Given the description of an element on the screen output the (x, y) to click on. 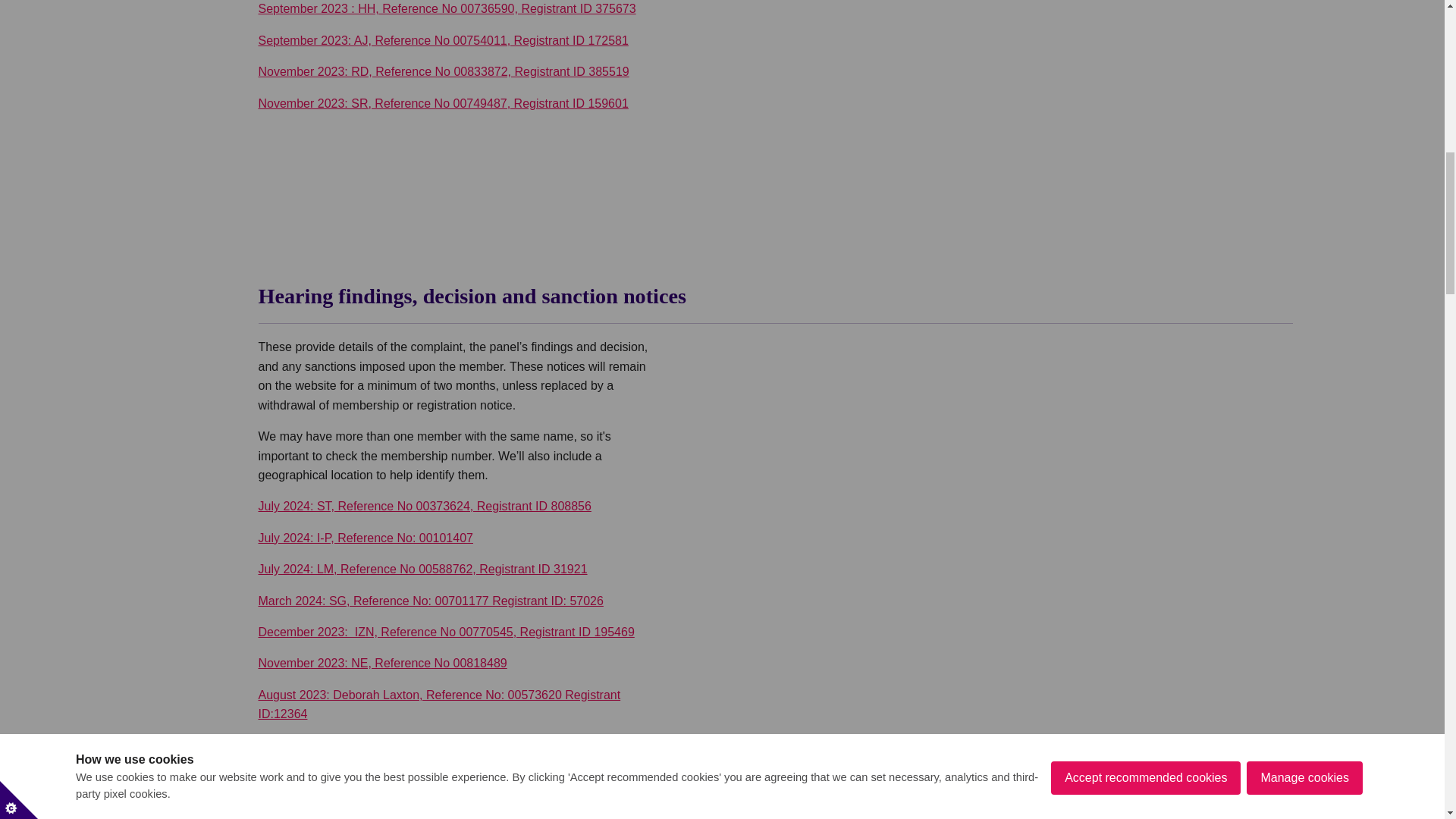
Manage cookies (1304, 5)
July 2024: LM, Reference No 00588762, Registrant ID 31921 (421, 568)
March 2024: SG, Reference No: 00701177 Registrant ID: 57026 (429, 600)
July 2024: ST,  Reference No 00373624, Registrant ID 808856 (424, 505)
Accept recommended cookies (1145, 12)
July 2024: I-P, Reference No: 00101407 (364, 537)
November 2023: NE, Reference No 00818489 (381, 662)
